Given the description of an element on the screen output the (x, y) to click on. 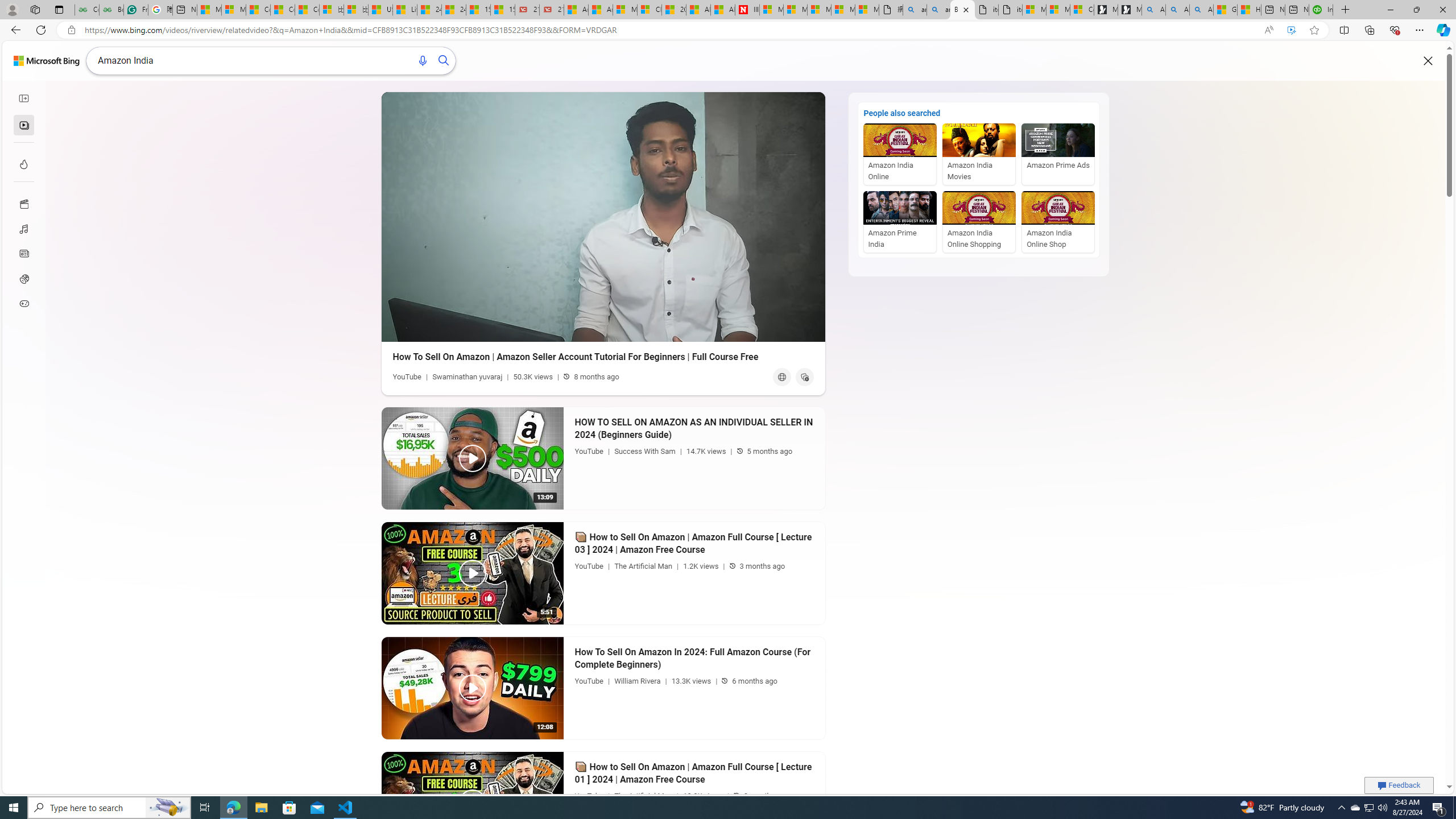
amazon - Search (914, 9)
Search button (443, 61)
View page (781, 376)
Complete Guide to Arrays Data Structure - GeeksforGeeks (86, 9)
YouTube (588, 795)
Enhance video (1291, 29)
15 Ways Modern Life Contradicts the Teachings of Jesus (502, 9)
Intuit QuickBooks Online - Quickbooks (1321, 9)
